Given the description of an element on the screen output the (x, y) to click on. 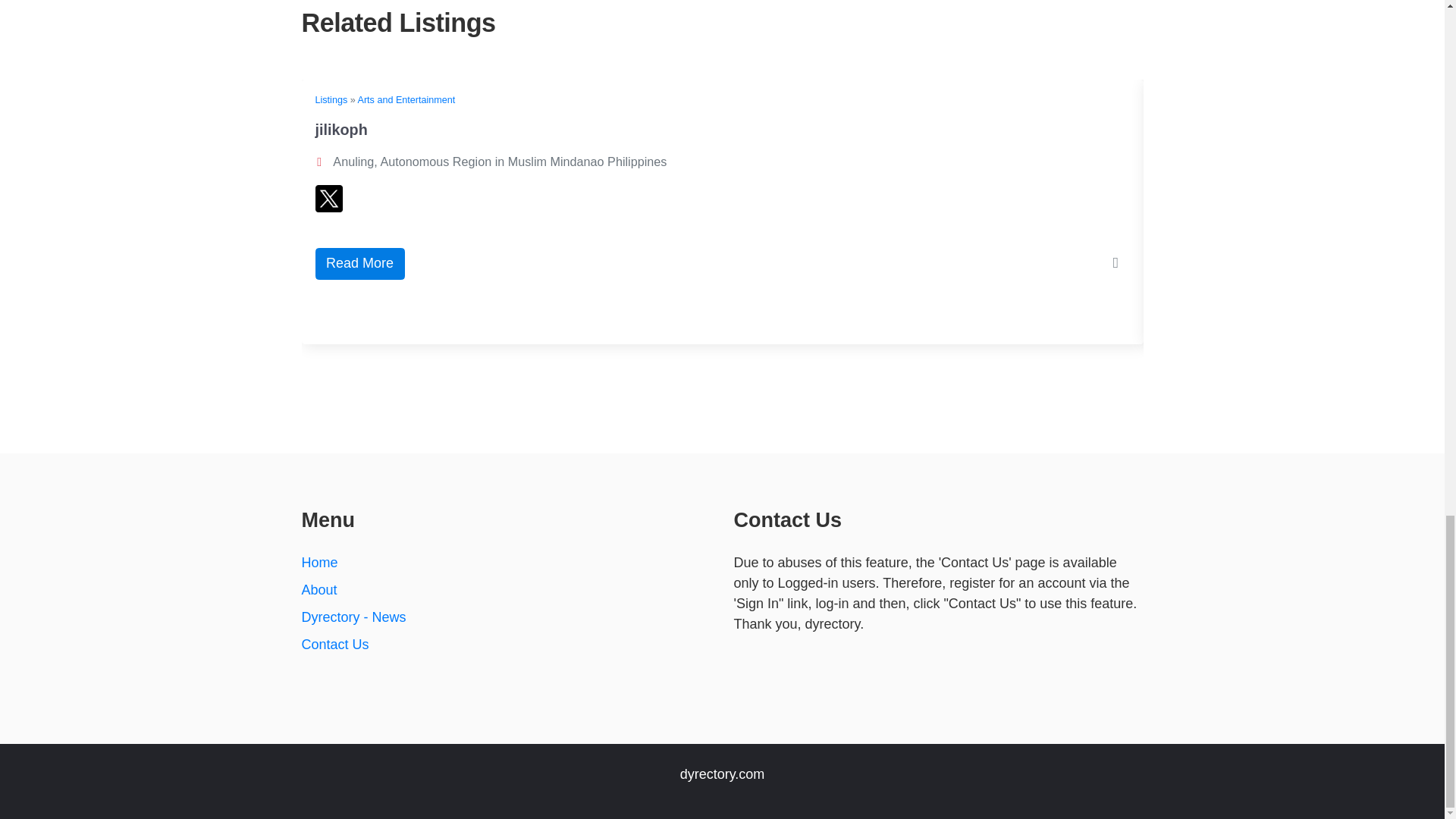
Arts and Entertainment (406, 100)
Read More (359, 264)
jilikoph (341, 129)
Listings (331, 100)
